Given the description of an element on the screen output the (x, y) to click on. 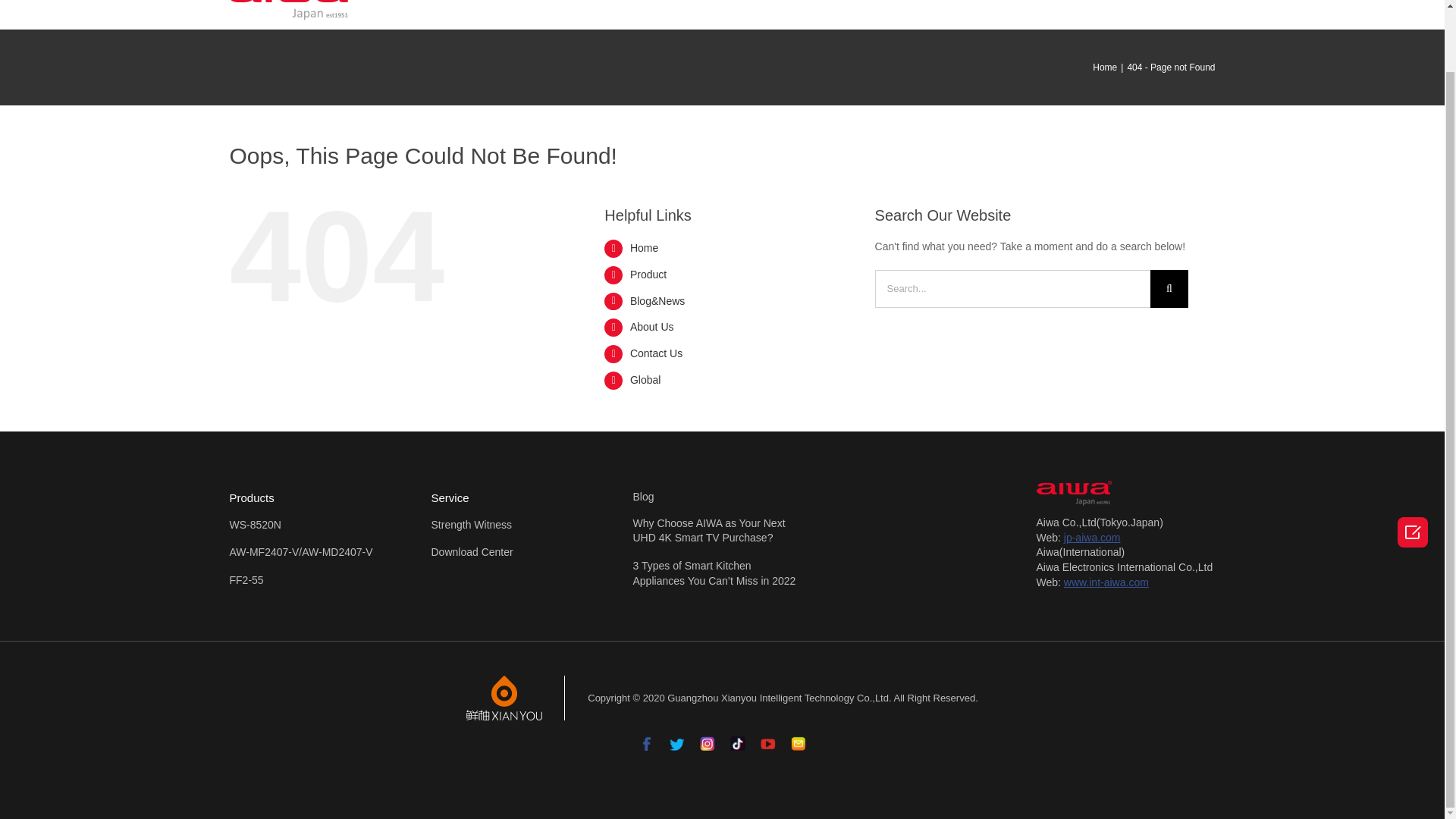
Tiktok (736, 739)
Facebook (646, 739)
About Us (962, 12)
Home (693, 12)
Global (1148, 12)
Instagram (706, 739)
Contact Us (1059, 12)
YouTube (767, 739)
Product (771, 12)
Email (797, 739)
